Given the description of an element on the screen output the (x, y) to click on. 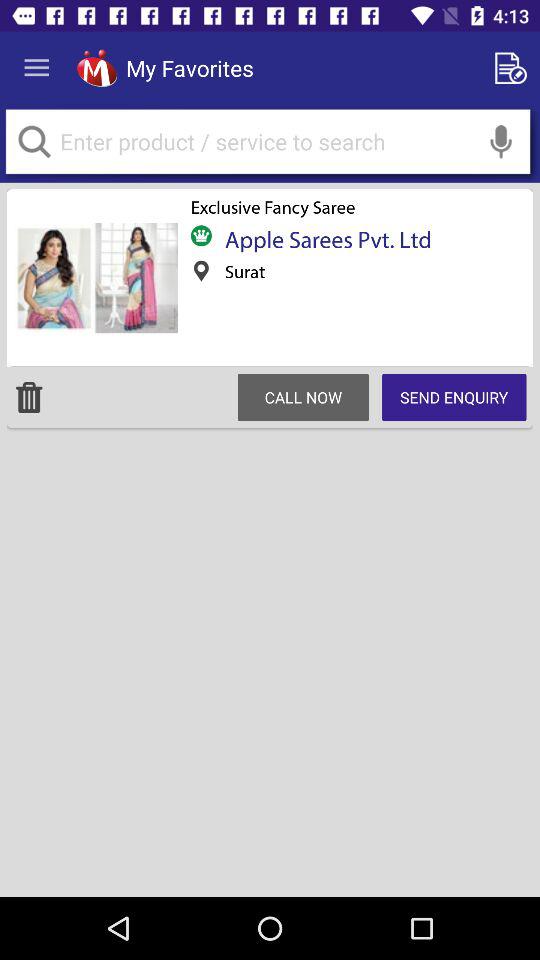
tap the item next to the send enquiry item (303, 397)
